Given the description of an element on the screen output the (x, y) to click on. 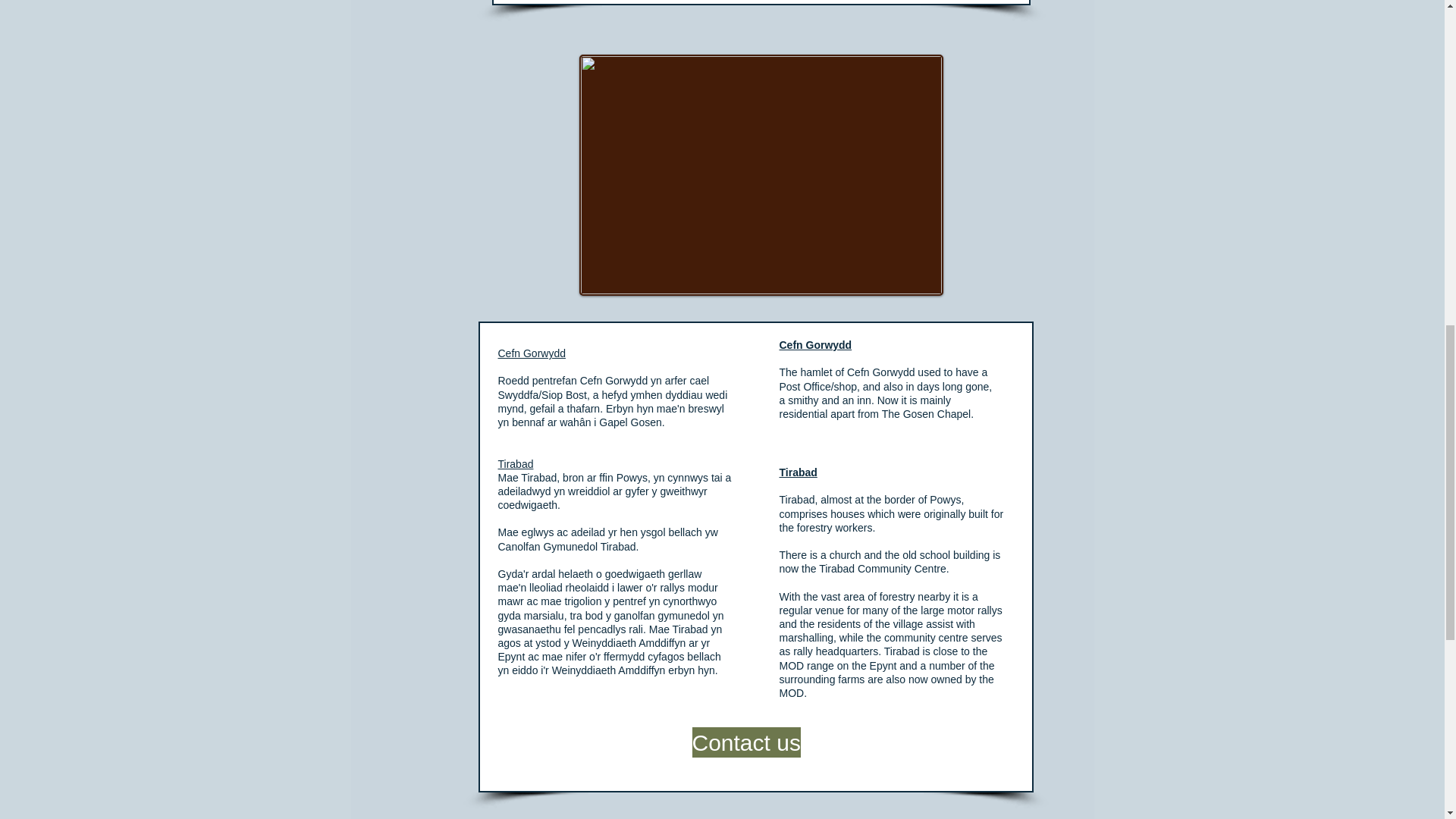
Contact us (745, 742)
